Given the description of an element on the screen output the (x, y) to click on. 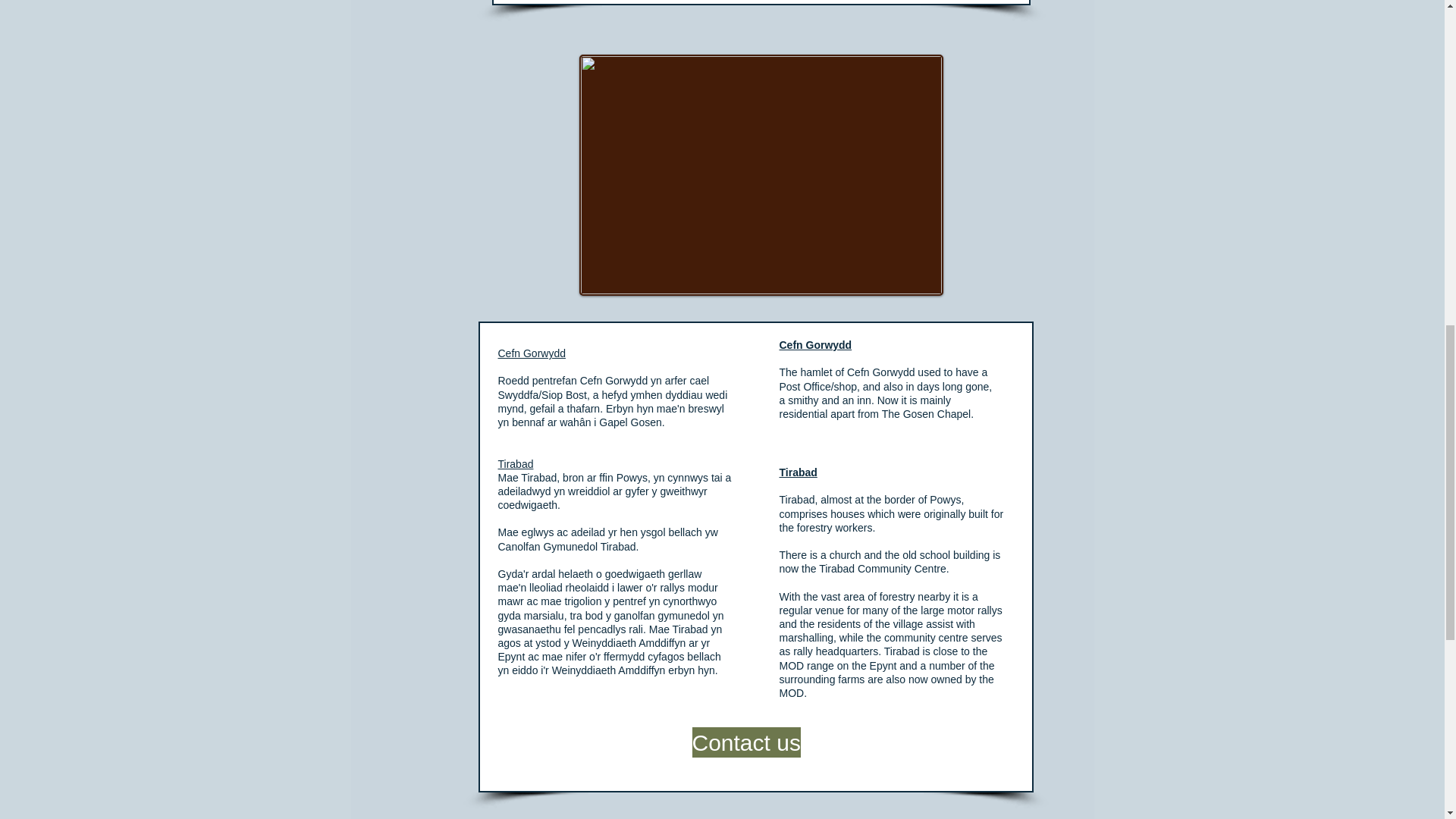
Contact us (745, 742)
